Given the description of an element on the screen output the (x, y) to click on. 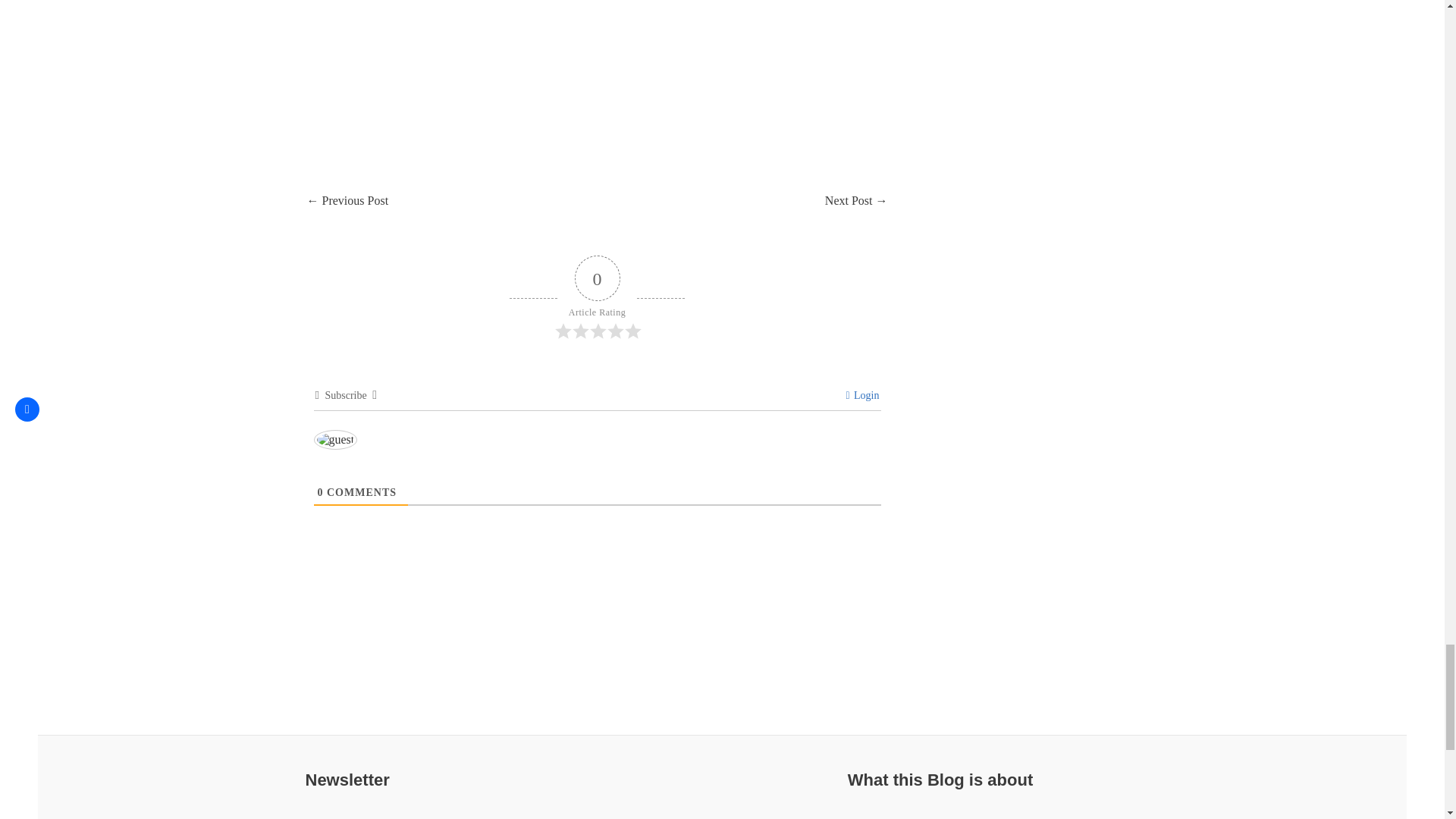
The Secrets to: Why hasn't he called? (346, 202)
Login (862, 395)
The 5 Golden Rules of a First Date (856, 202)
